Given the description of an element on the screen output the (x, y) to click on. 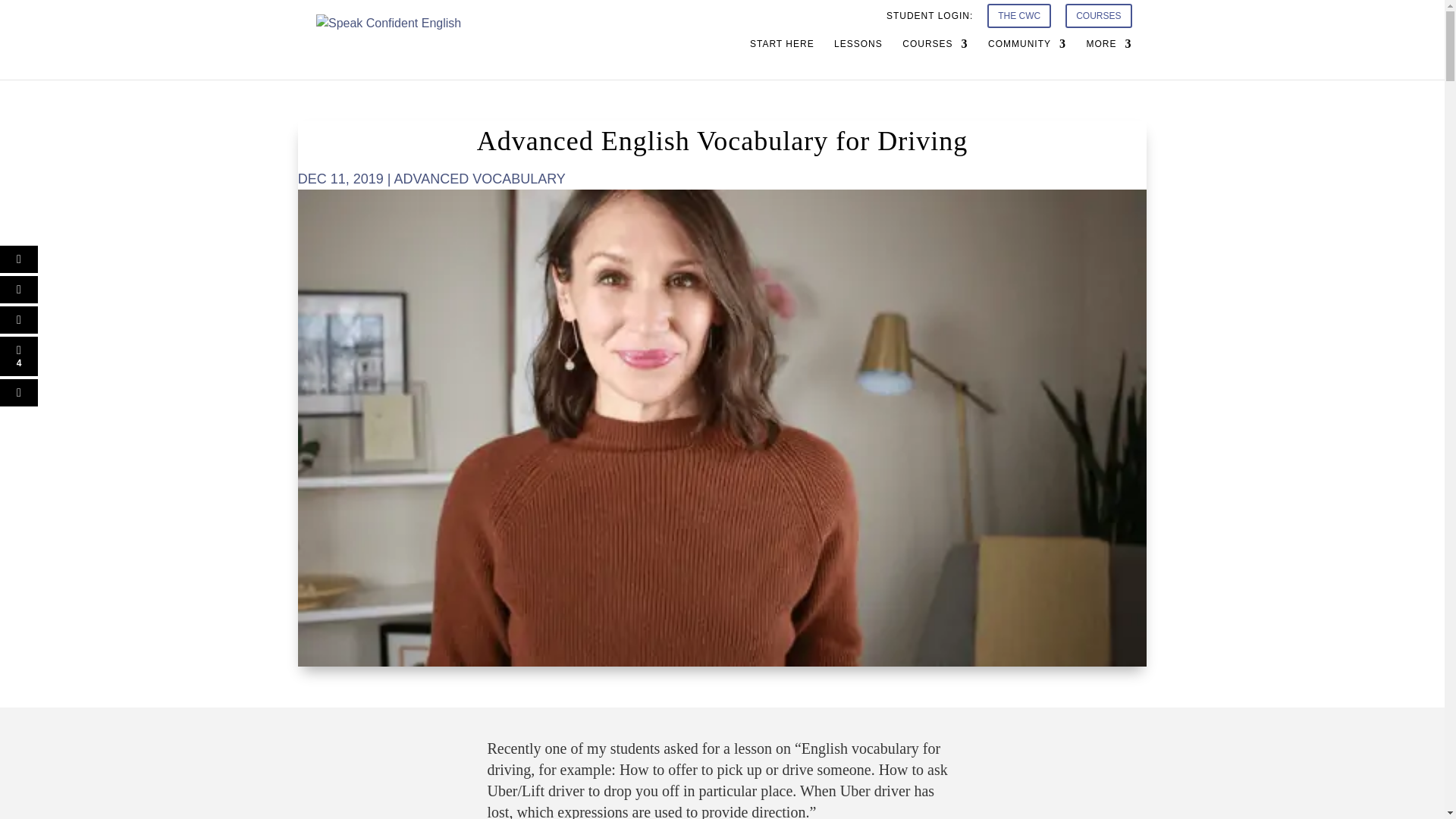
LESSONS (858, 57)
START HERE (781, 57)
ADVANCED VOCABULARY (478, 178)
STUDENT LOGIN: (929, 19)
COMMUNITY (1026, 57)
THE CWC (1019, 20)
MORE (1108, 57)
COURSES (1098, 20)
COURSES (935, 57)
